Given the description of an element on the screen output the (x, y) to click on. 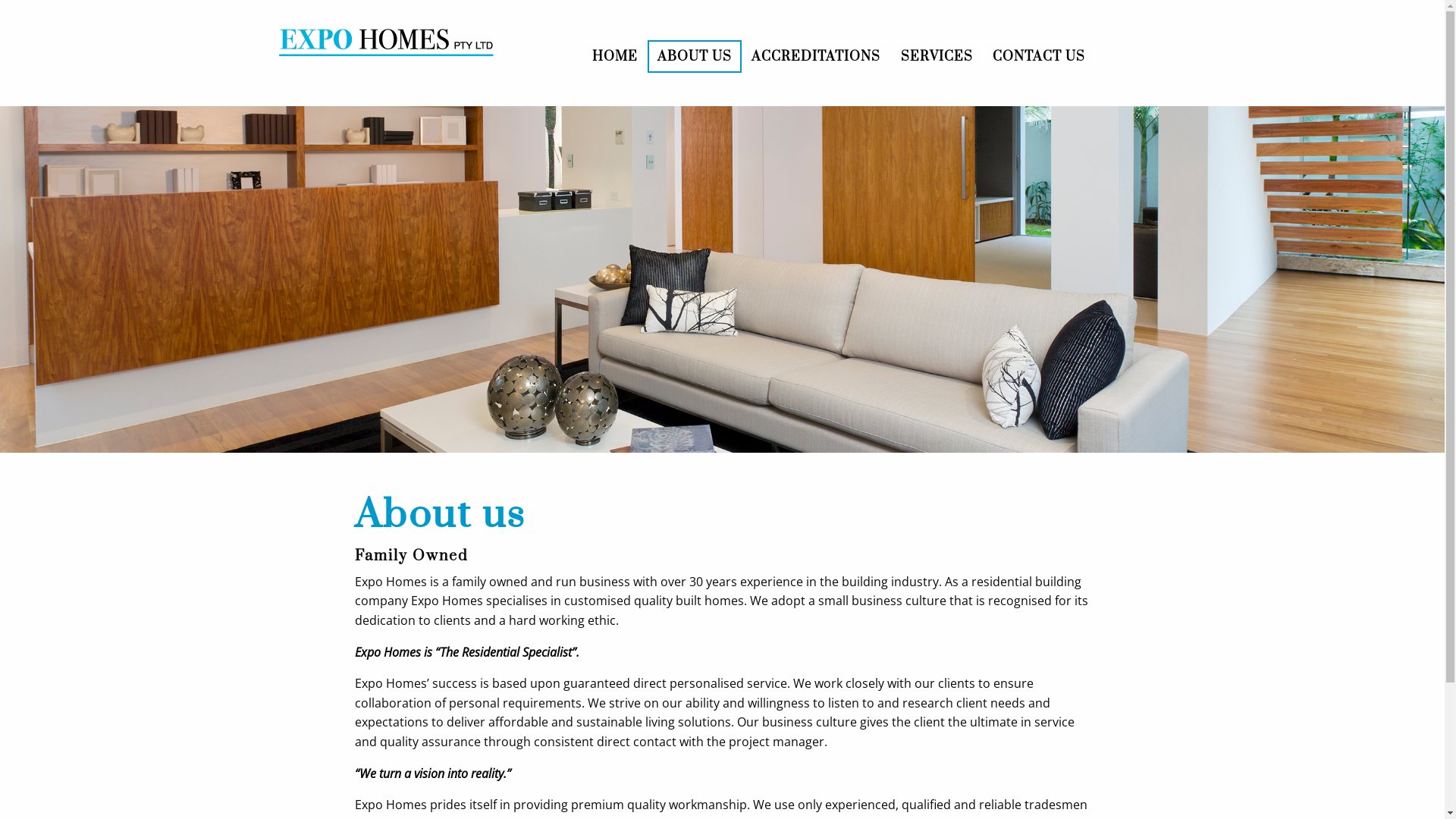
HOME Element type: text (613, 56)
SERVICES Element type: text (936, 56)
ACCREDITATIONS Element type: text (815, 56)
CONTACT US Element type: text (1038, 56)
ABOUT US Element type: text (694, 56)
